Given the description of an element on the screen output the (x, y) to click on. 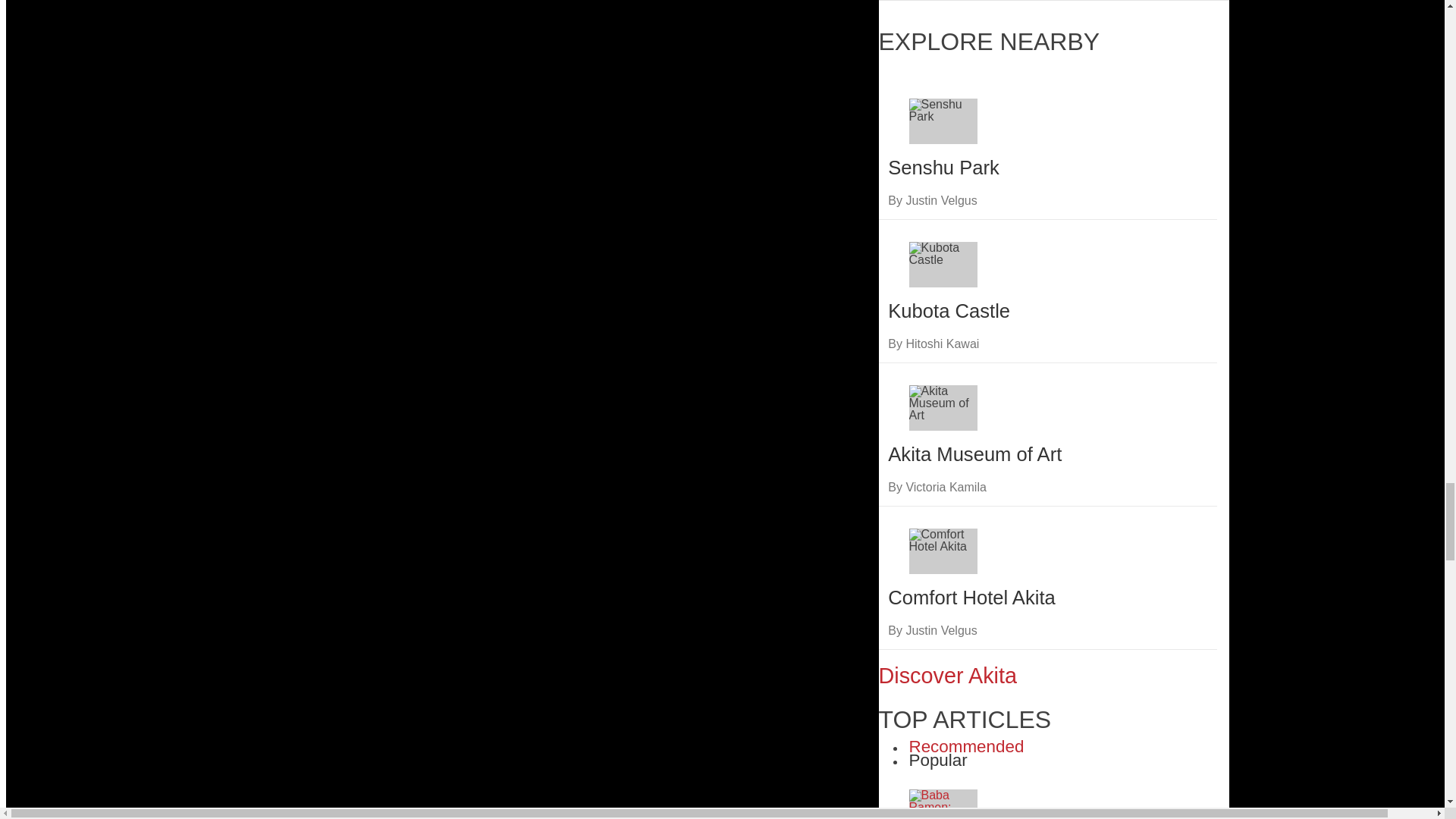
Baba Ramen: Hands-on Cooking Workshop (942, 804)
